Given the description of an element on the screen output the (x, y) to click on. 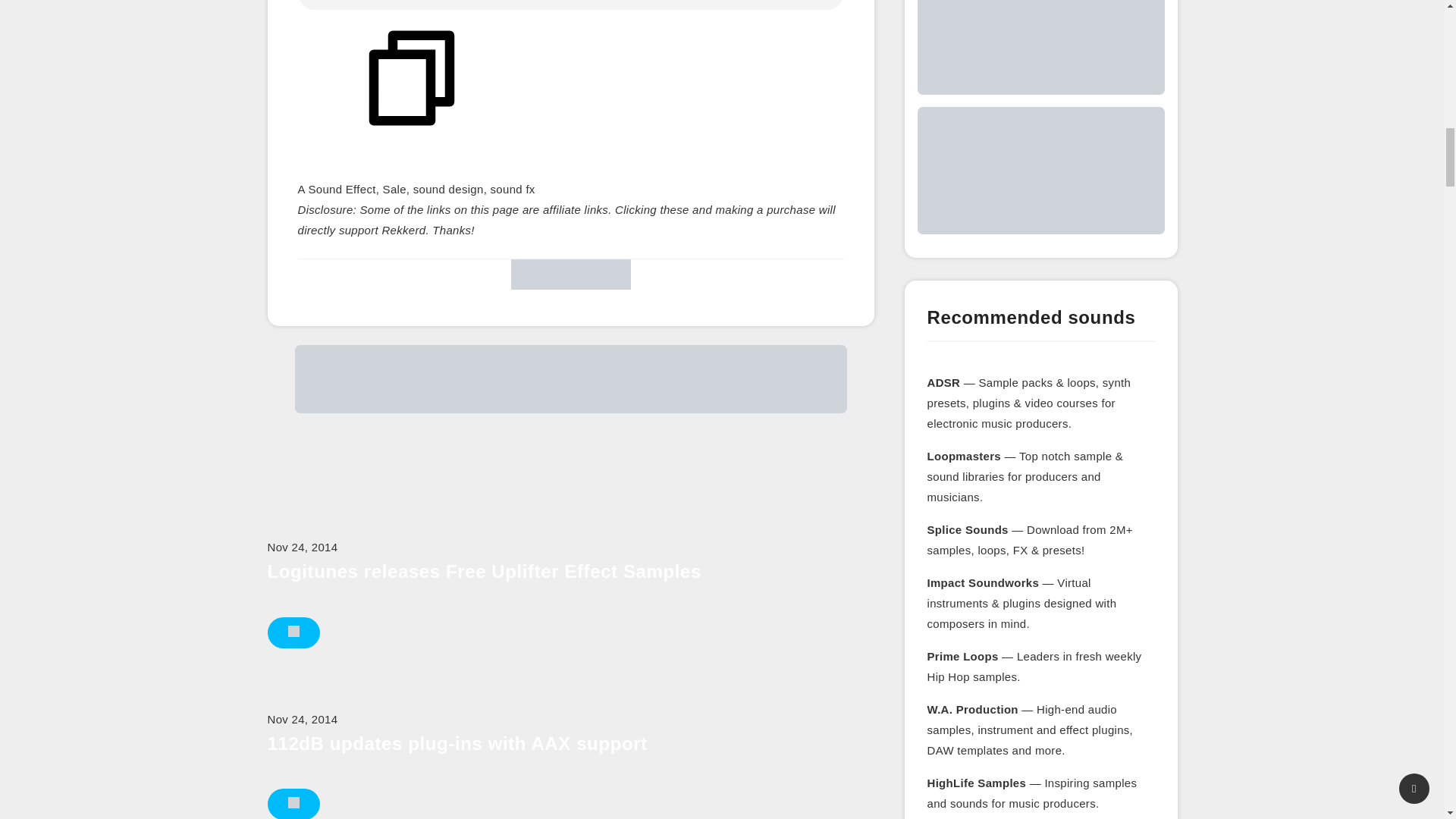
sound fx (512, 188)
sound design (448, 188)
A Sound Effect (336, 188)
Sale (394, 188)
